Given the description of an element on the screen output the (x, y) to click on. 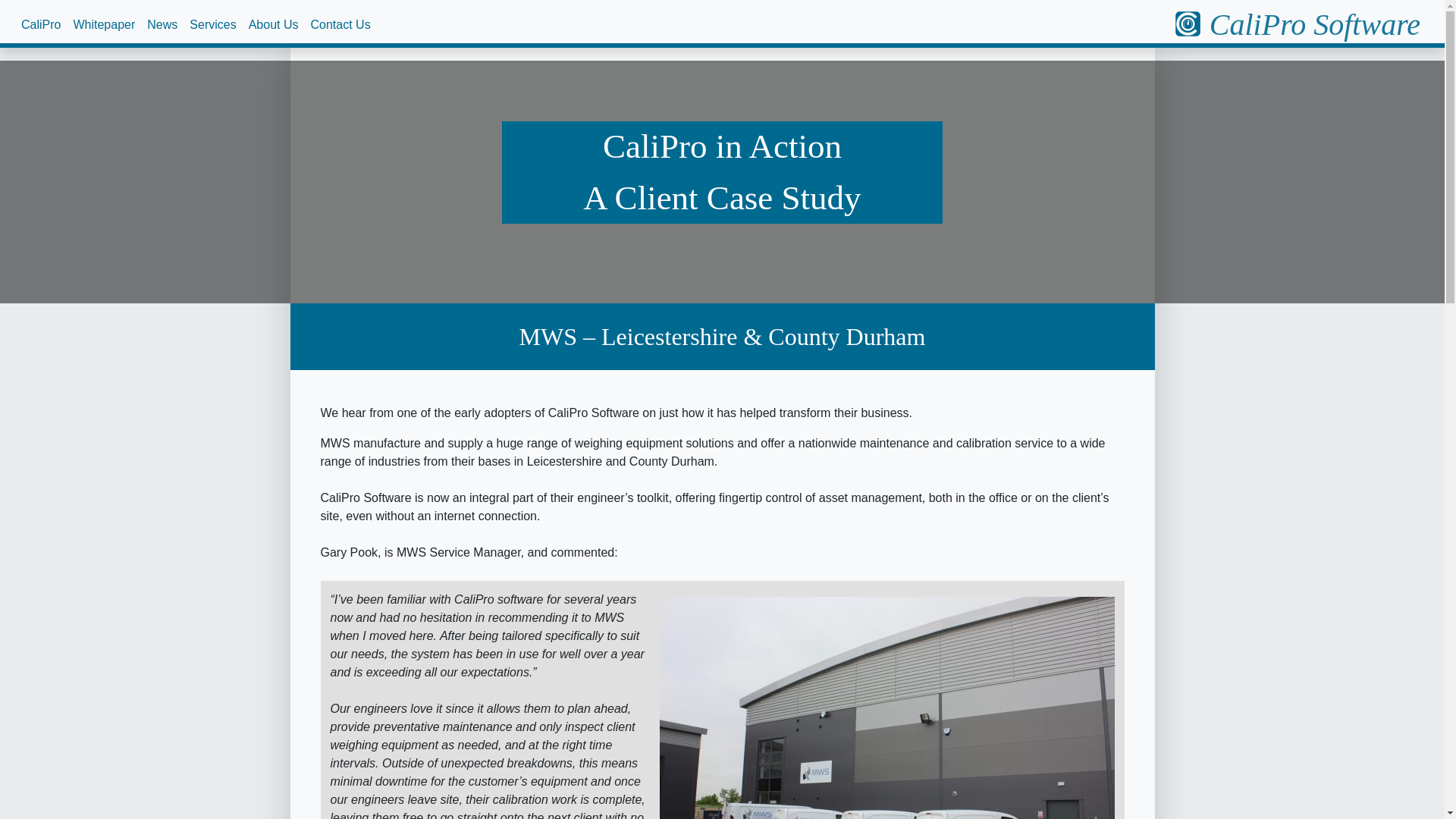
CaliPro (40, 24)
About Us (273, 24)
CaliPro (40, 24)
Whitepaper (103, 24)
News (162, 24)
Calipro Software (1297, 24)
Contact Us (339, 24)
About Us (273, 24)
Services (212, 24)
News (162, 24)
